Given the description of an element on the screen output the (x, y) to click on. 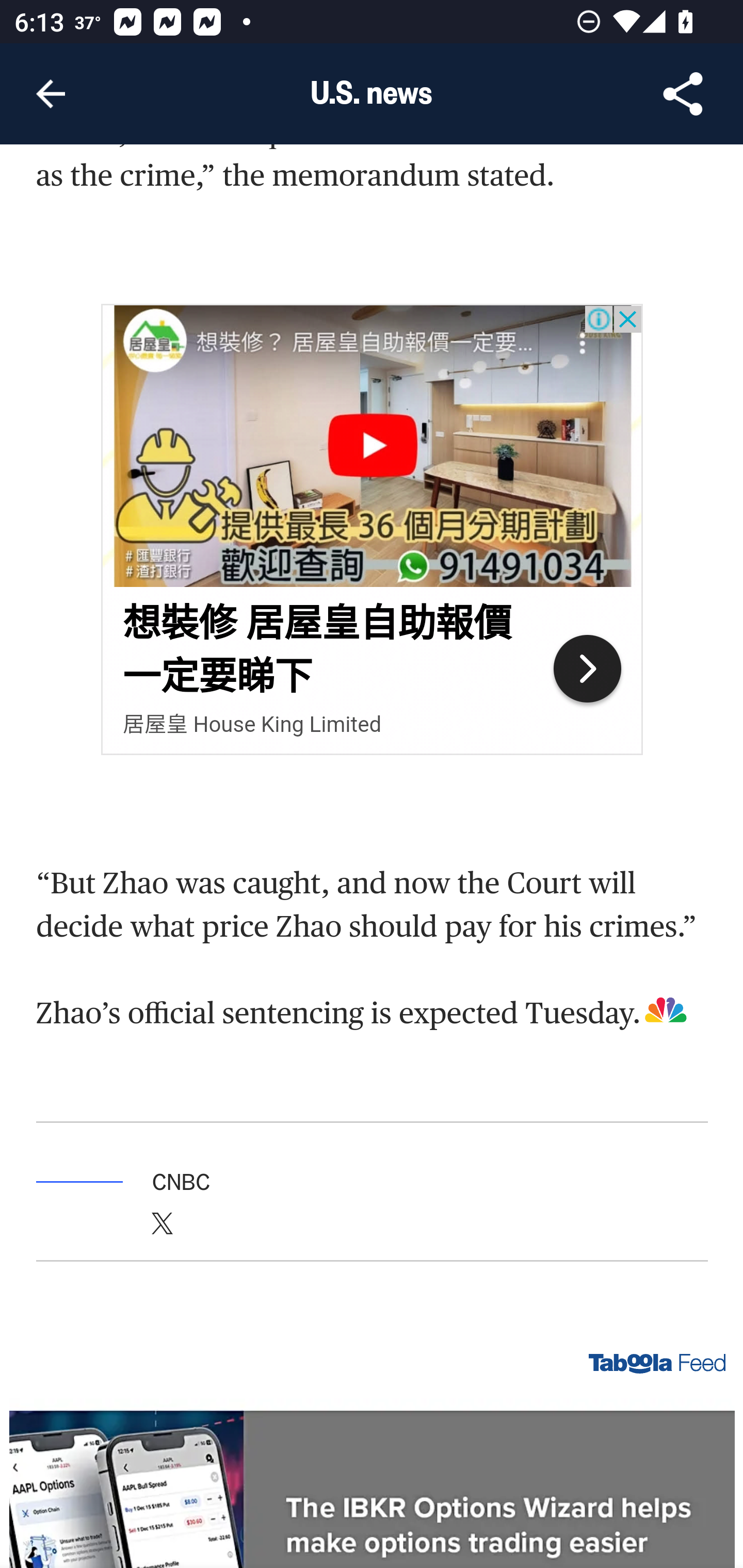
Navigate up (50, 93)
Share Article, button (683, 94)
想裝修 居屋皇自助報價 一定要睇下 想裝修 居屋皇自助報價 一定要睇下 (317, 651)
居屋皇 House King Limited (252, 726)
 (162, 1230)
Image for Taboola Advertising Unit (372, 1483)
